Given the description of an element on the screen output the (x, y) to click on. 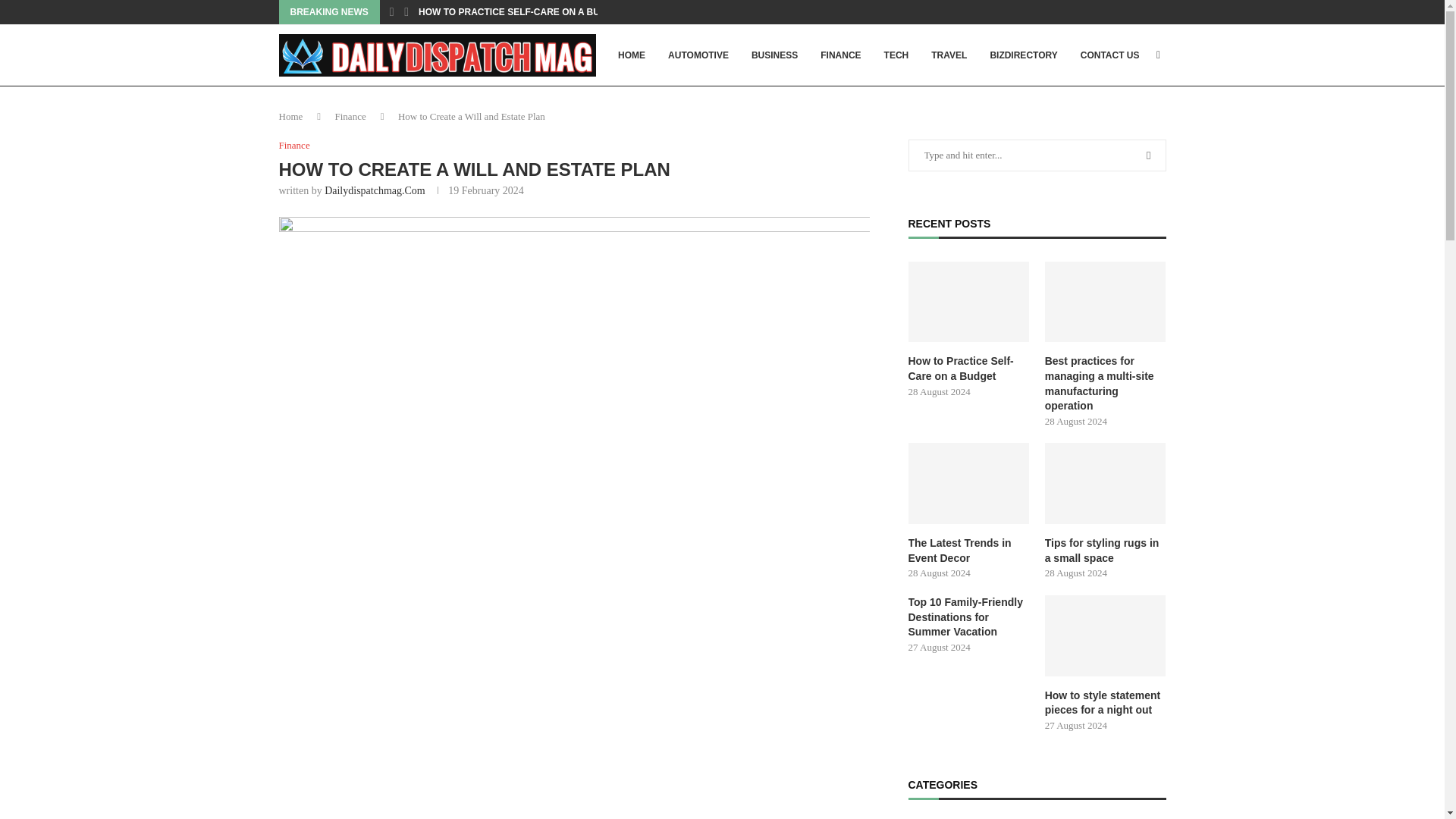
How to Practice Self-Care on a Budget (968, 368)
HOW TO PRACTICE SELF-CARE ON A BUDGET (521, 12)
Finance (294, 145)
Home (290, 116)
CONTACT US (1110, 55)
AUTOMOTIVE (698, 55)
How to Practice Self-Care on a Budget (968, 302)
Finance (350, 116)
BIZDIRECTORY (1023, 55)
